Given the description of an element on the screen output the (x, y) to click on. 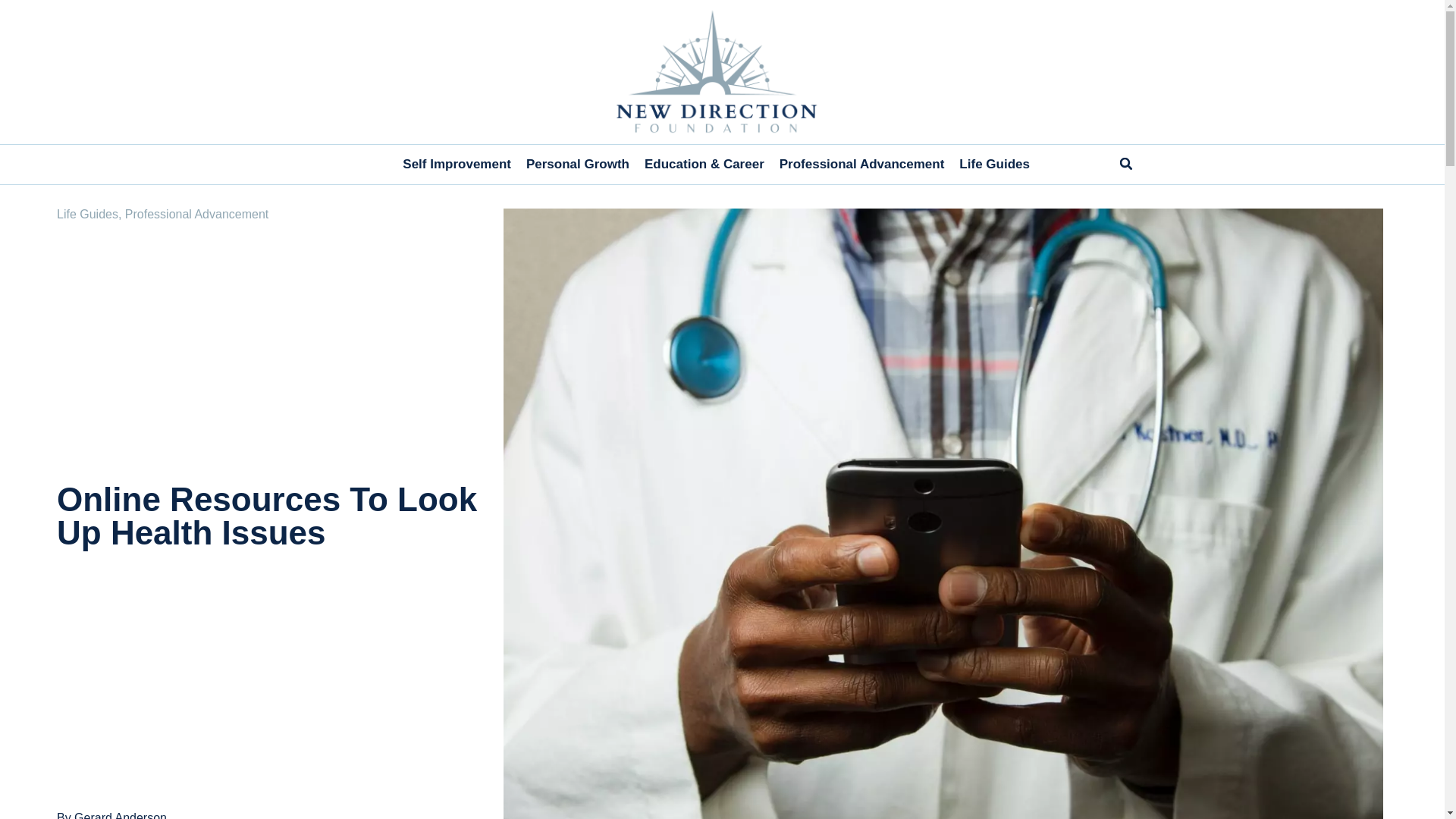
Life Guides (994, 164)
Self Improvement (456, 164)
Professional Advancement (196, 214)
By Gerard Anderson (111, 815)
Life Guides (86, 214)
Personal Growth (577, 164)
Professional Advancement (861, 164)
